Given the description of an element on the screen output the (x, y) to click on. 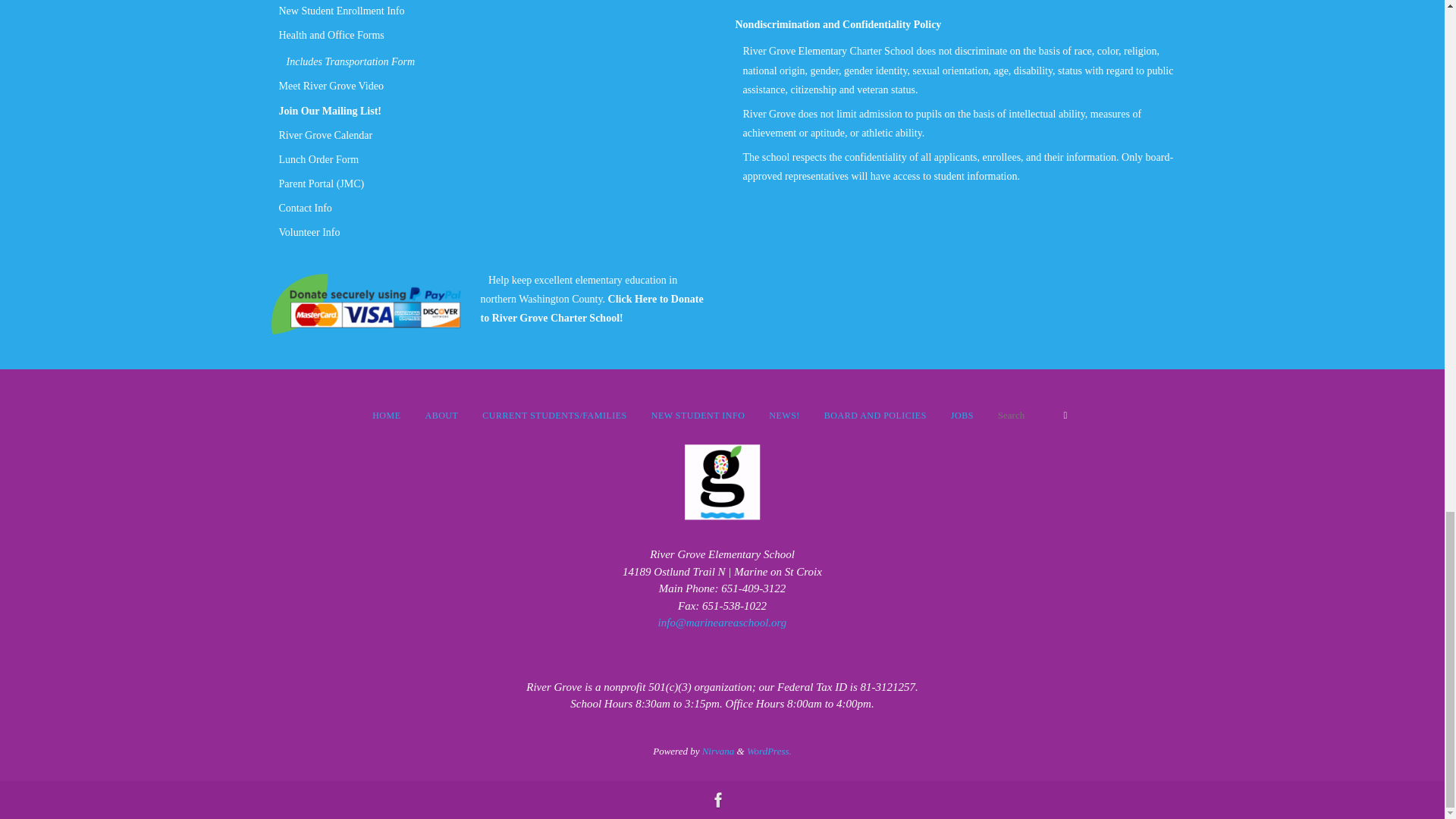
Semantic Personal Publishing Platform (769, 750)
Nirvana Theme by Cryout Creations (718, 750)
Facebook (717, 799)
